Given the description of an element on the screen output the (x, y) to click on. 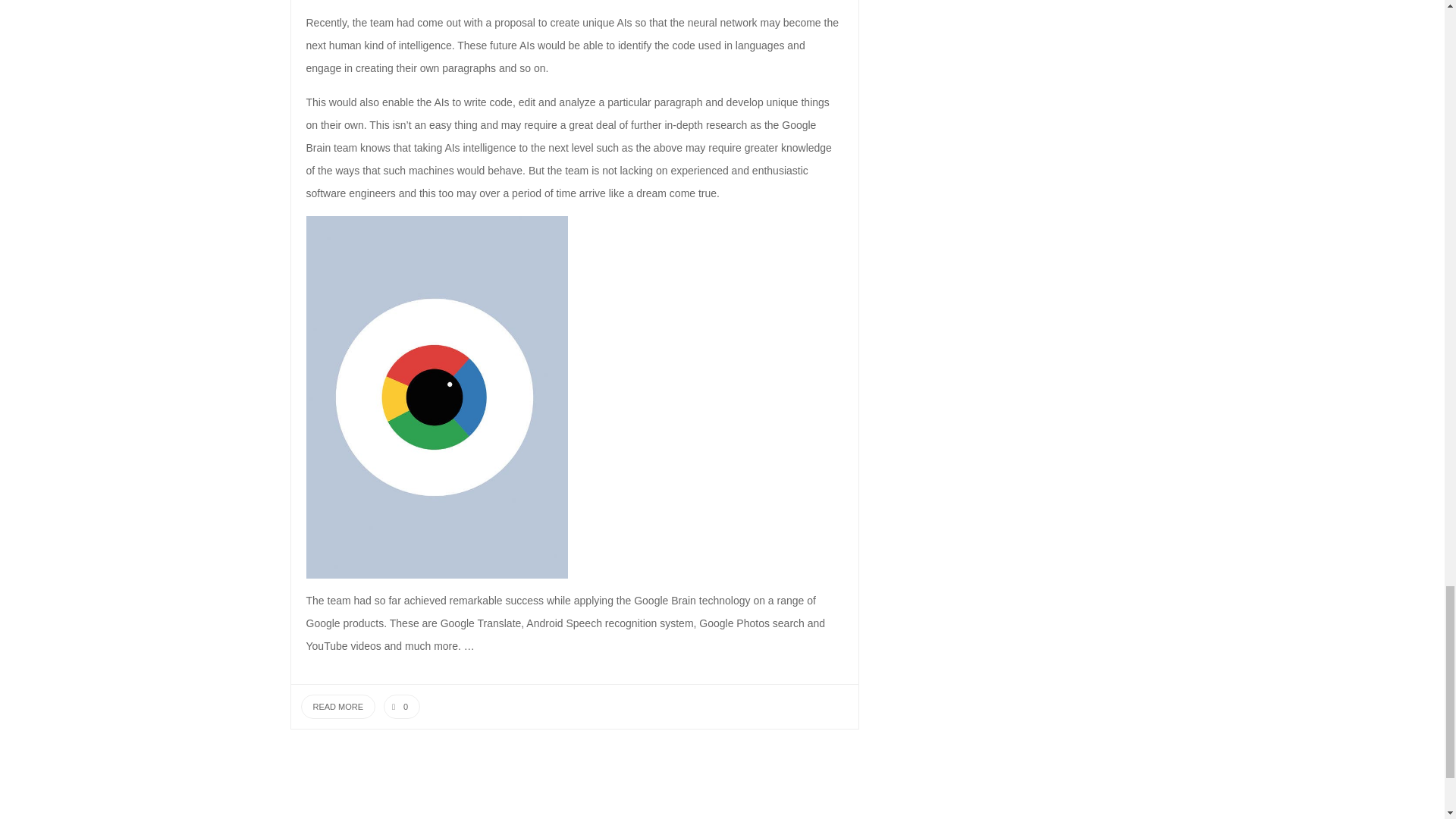
0 (402, 706)
READ MORE (337, 706)
